Given the description of an element on the screen output the (x, y) to click on. 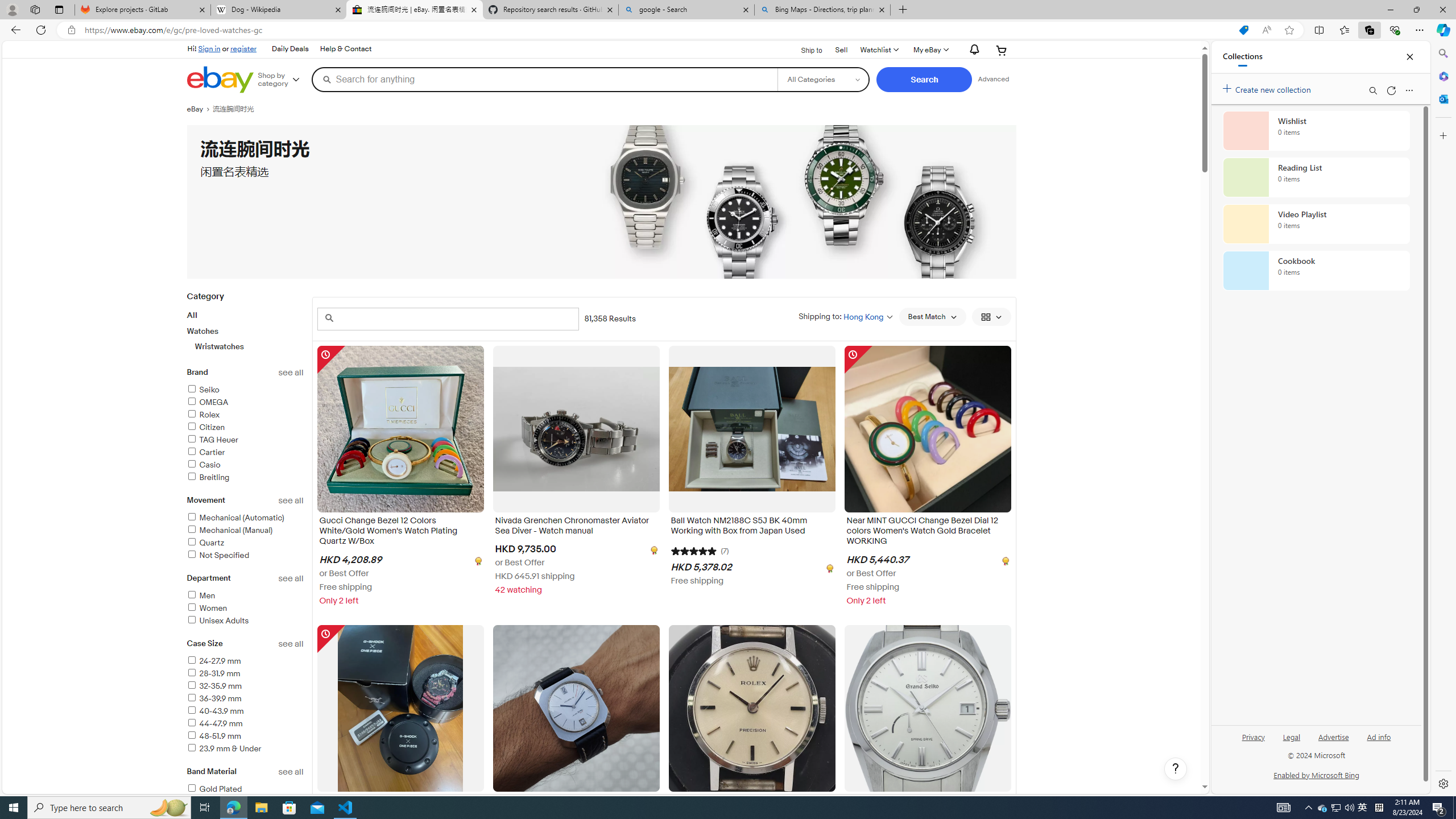
Advanced Search (993, 78)
Select a category for search (823, 78)
32-35.9 mm (213, 686)
Mechanical (Manual) (245, 530)
TAG Heuer (212, 439)
Rolex (245, 415)
Quartz (205, 542)
